Given the description of an element on the screen output the (x, y) to click on. 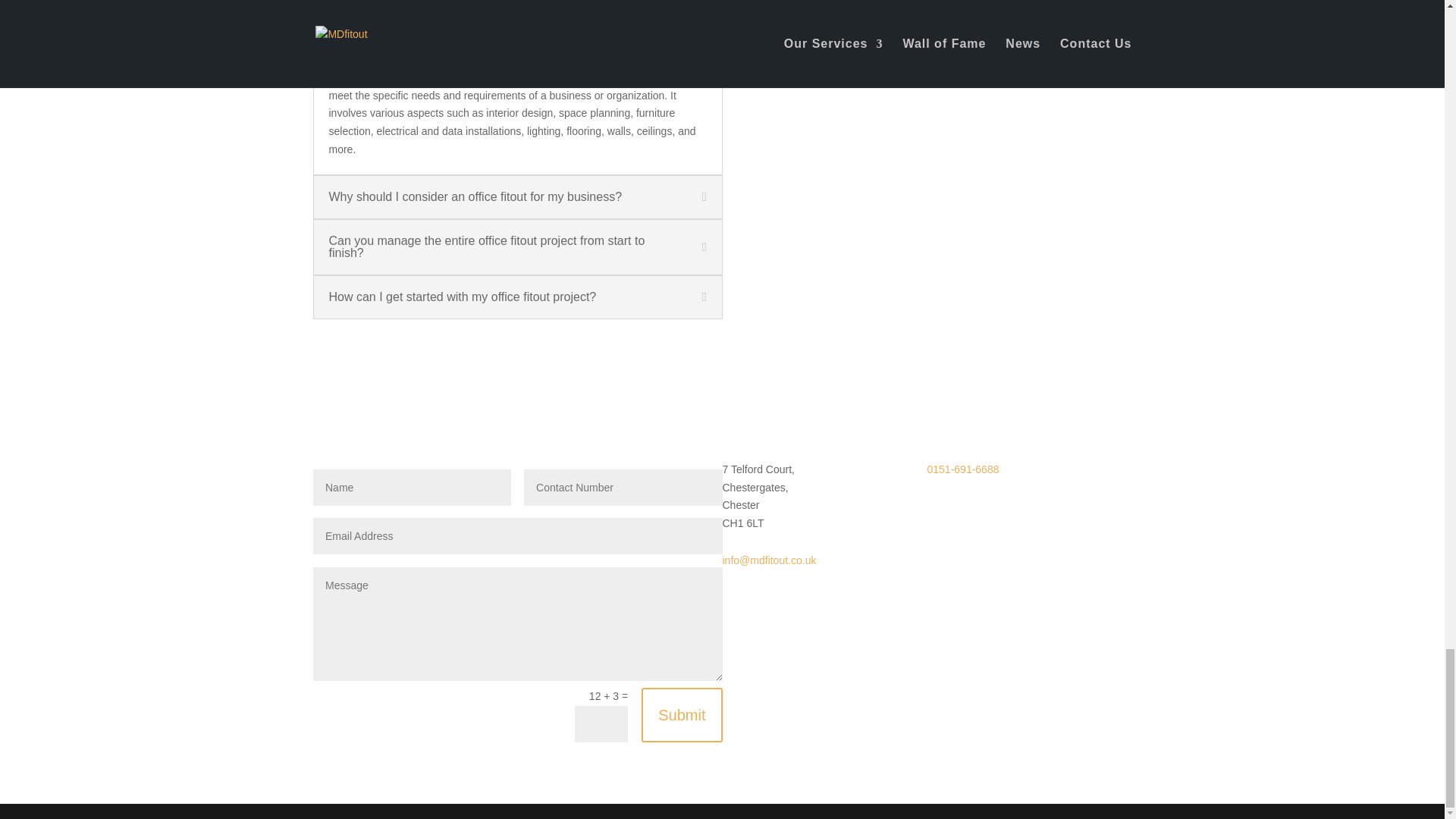
Only numbers allowed. (623, 487)
Follow on Facebook (968, 509)
Submit (682, 714)
Follow on Twitter (1029, 509)
Follow on LinkedIn (999, 509)
0151-691-6688 (962, 469)
Submit Project (787, 45)
Follow on Instagram (938, 509)
